Given the description of an element on the screen output the (x, y) to click on. 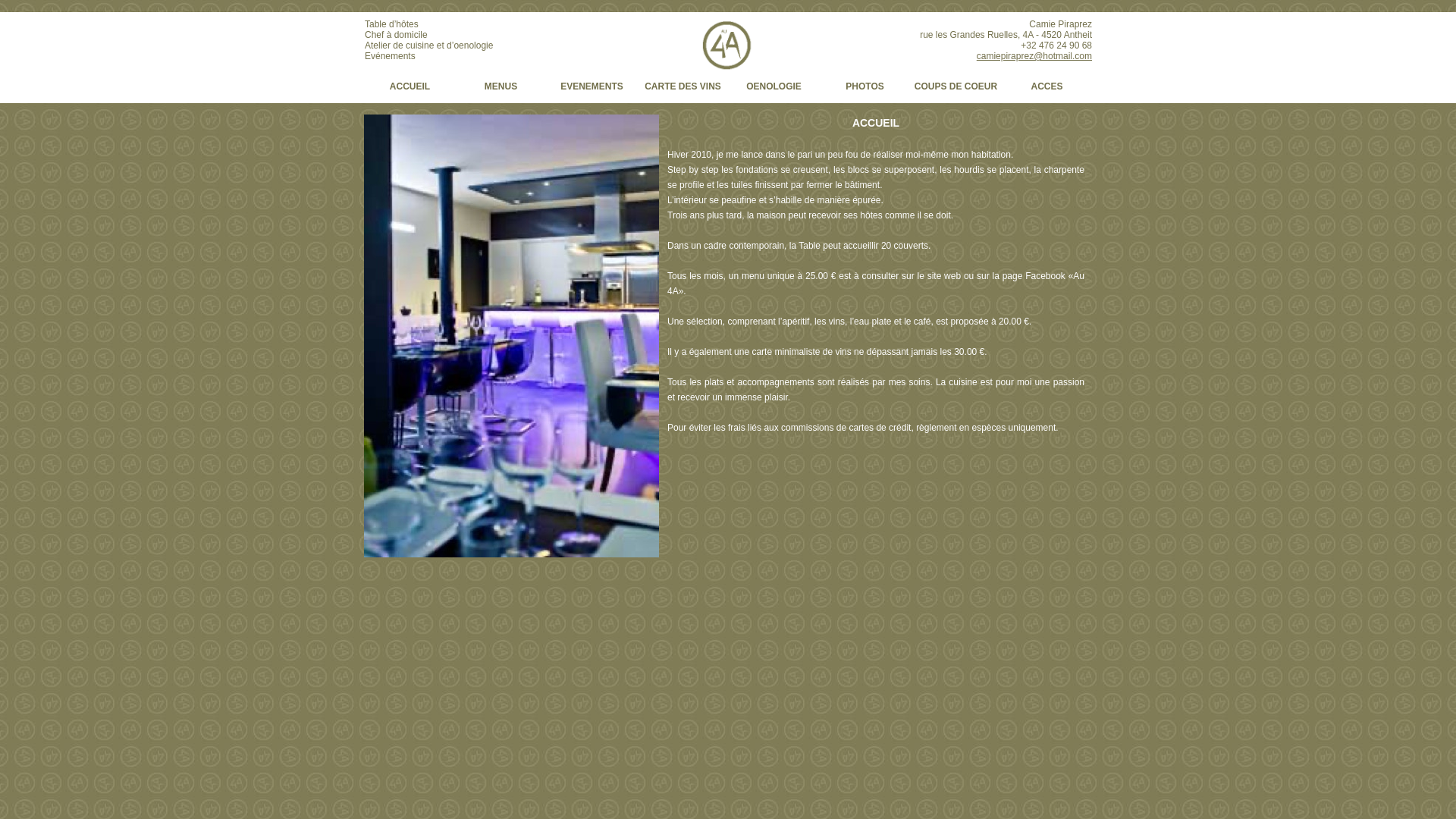
camiepiraprez@hotmail.com Element type: text (1034, 55)
